Given the description of an element on the screen output the (x, y) to click on. 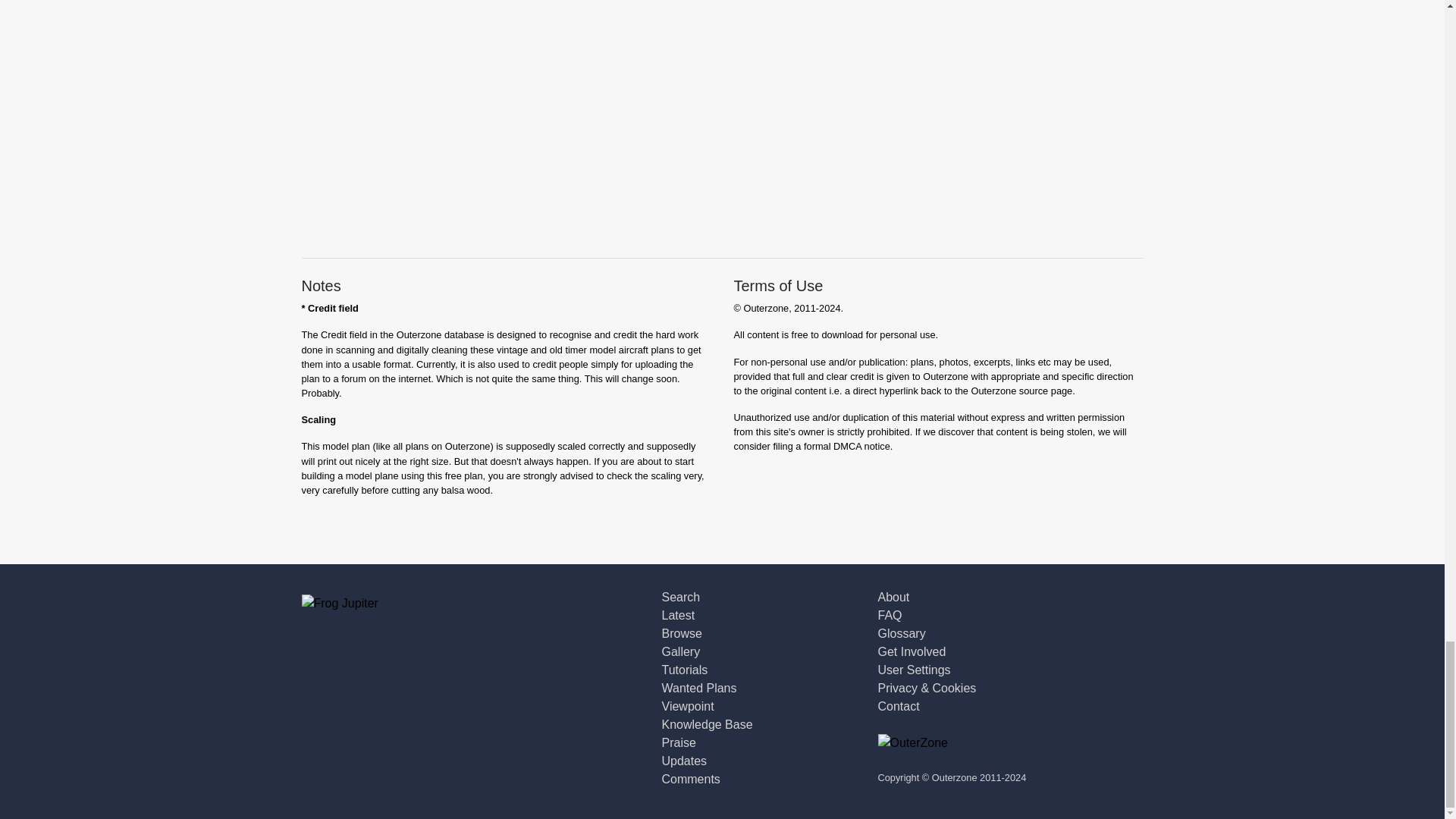
Search (680, 596)
Latest (677, 615)
